Given the description of an element on the screen output the (x, y) to click on. 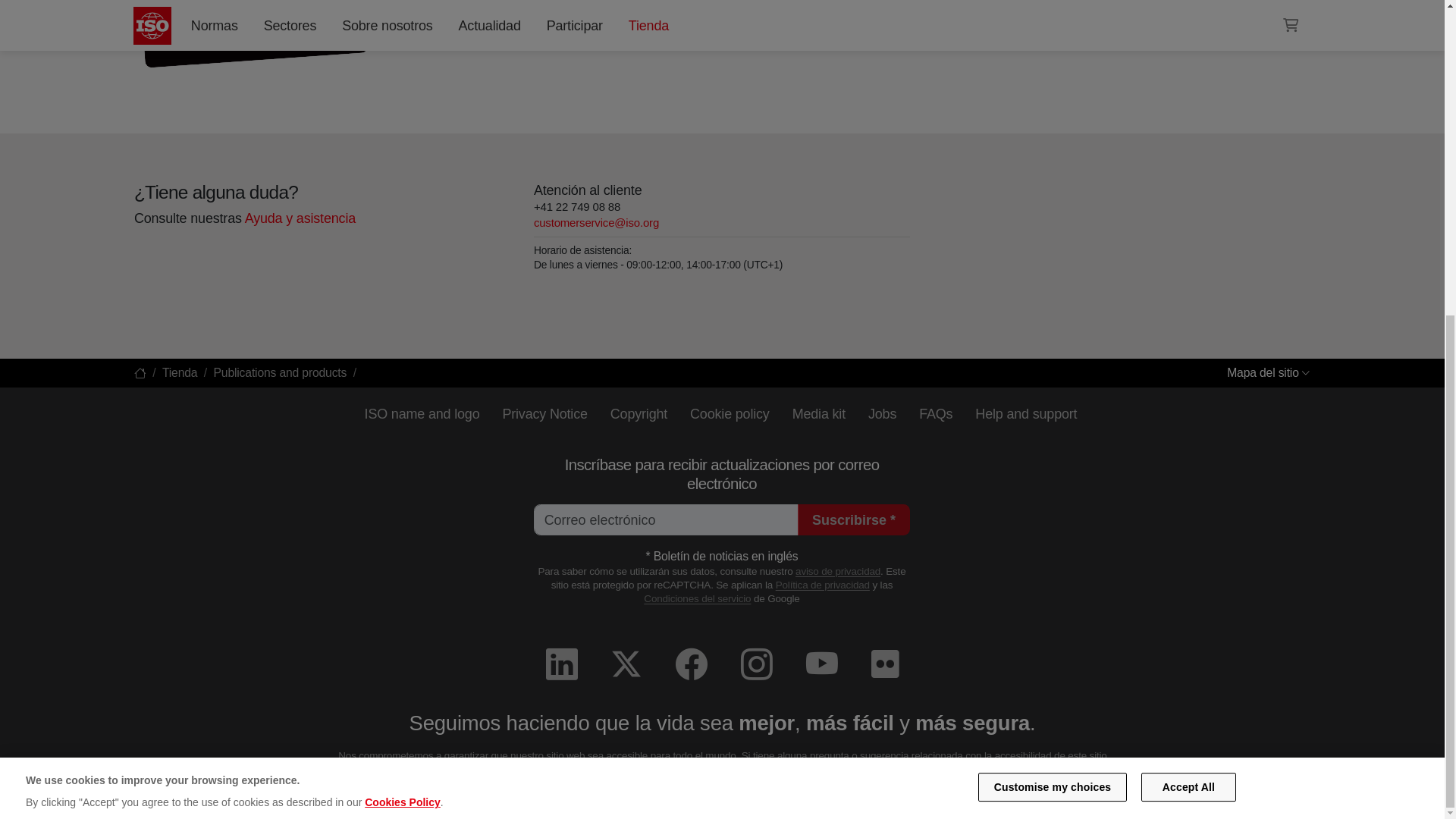
Mapa del sitio (1269, 372)
Ayuda y asistencia (299, 218)
Publications and products (279, 372)
Tienda (178, 372)
